Given the description of an element on the screen output the (x, y) to click on. 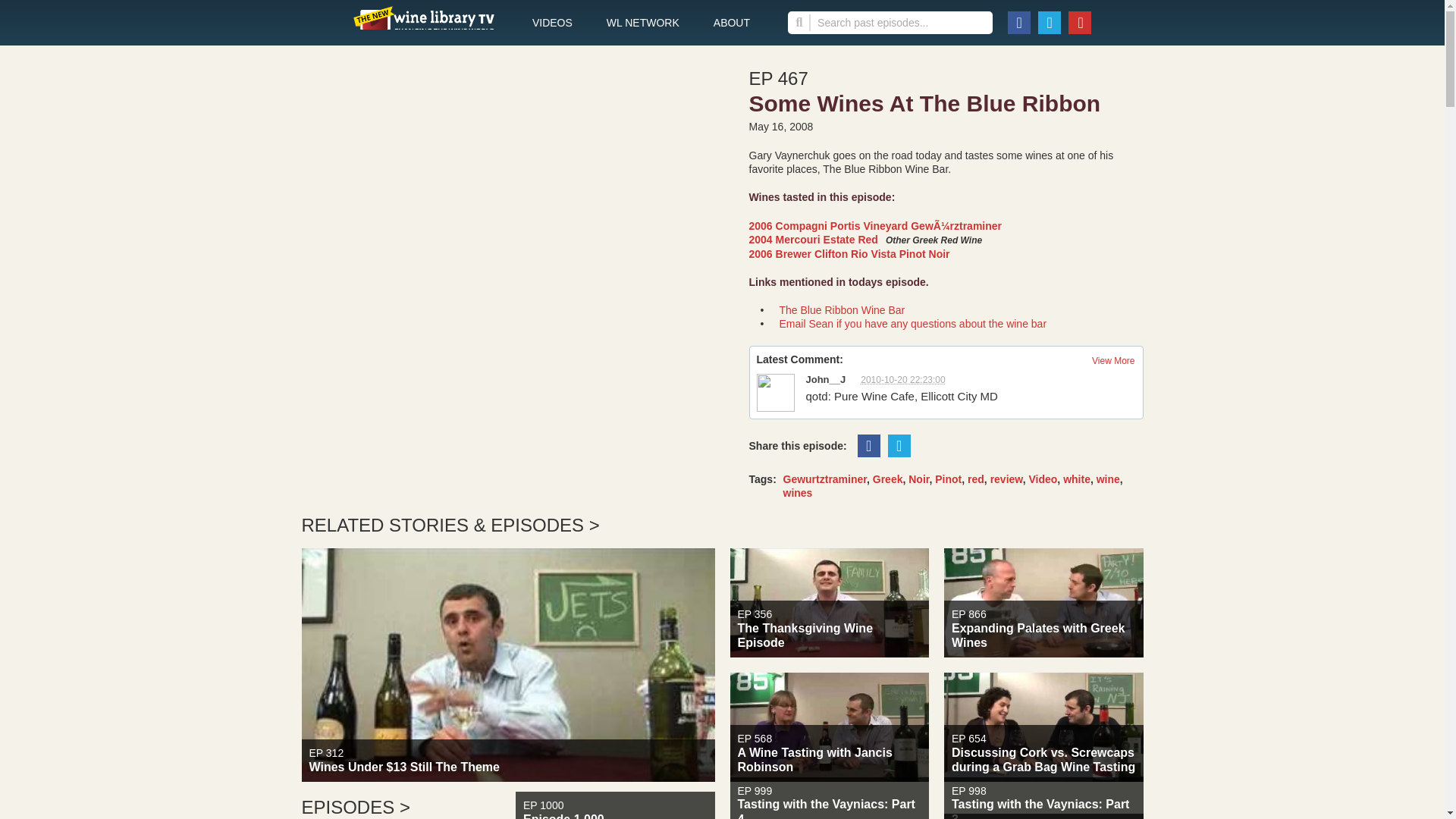
ABOUT (731, 22)
The Blue Ribbon Wine Bar (841, 309)
View all posts in white (828, 727)
View all posts in Video (1076, 479)
View all posts in review (1042, 479)
VIDEOS (1006, 479)
View all posts in wine (552, 22)
wine (1107, 479)
View all posts in Noir (1107, 479)
Video (918, 479)
WL NETWORK (1042, 479)
View all posts in Pinot (642, 22)
Greek (947, 479)
